Given the description of an element on the screen output the (x, y) to click on. 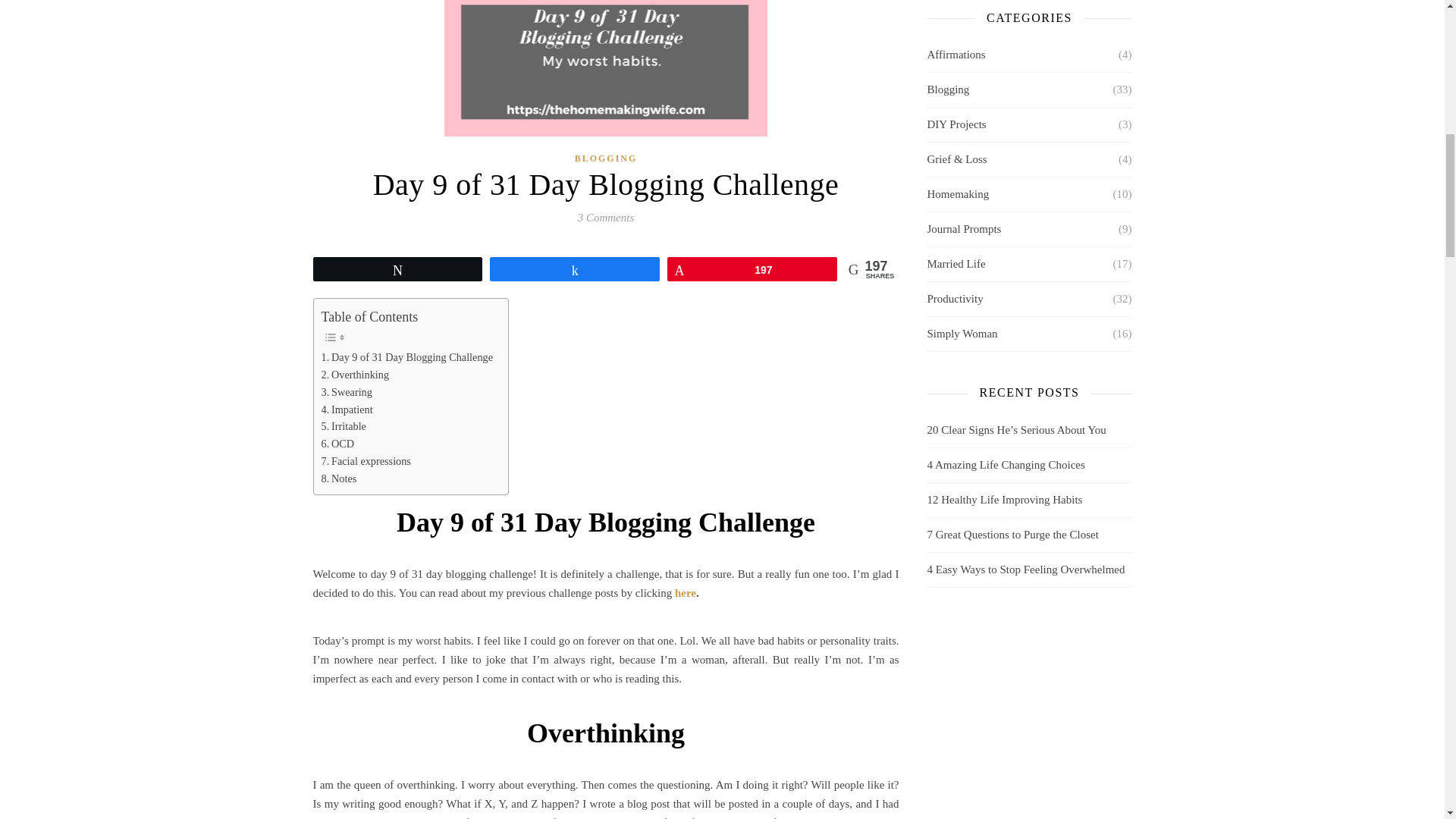
197 (751, 268)
Facial expressions (365, 461)
Irritable (343, 425)
Swearing (346, 392)
Day 9 of 31 Day Blogging Challenge (407, 357)
OCD  (338, 443)
Swearing (346, 392)
3 Comments (606, 217)
Impatient (346, 408)
OCD (338, 443)
